Given the description of an element on the screen output the (x, y) to click on. 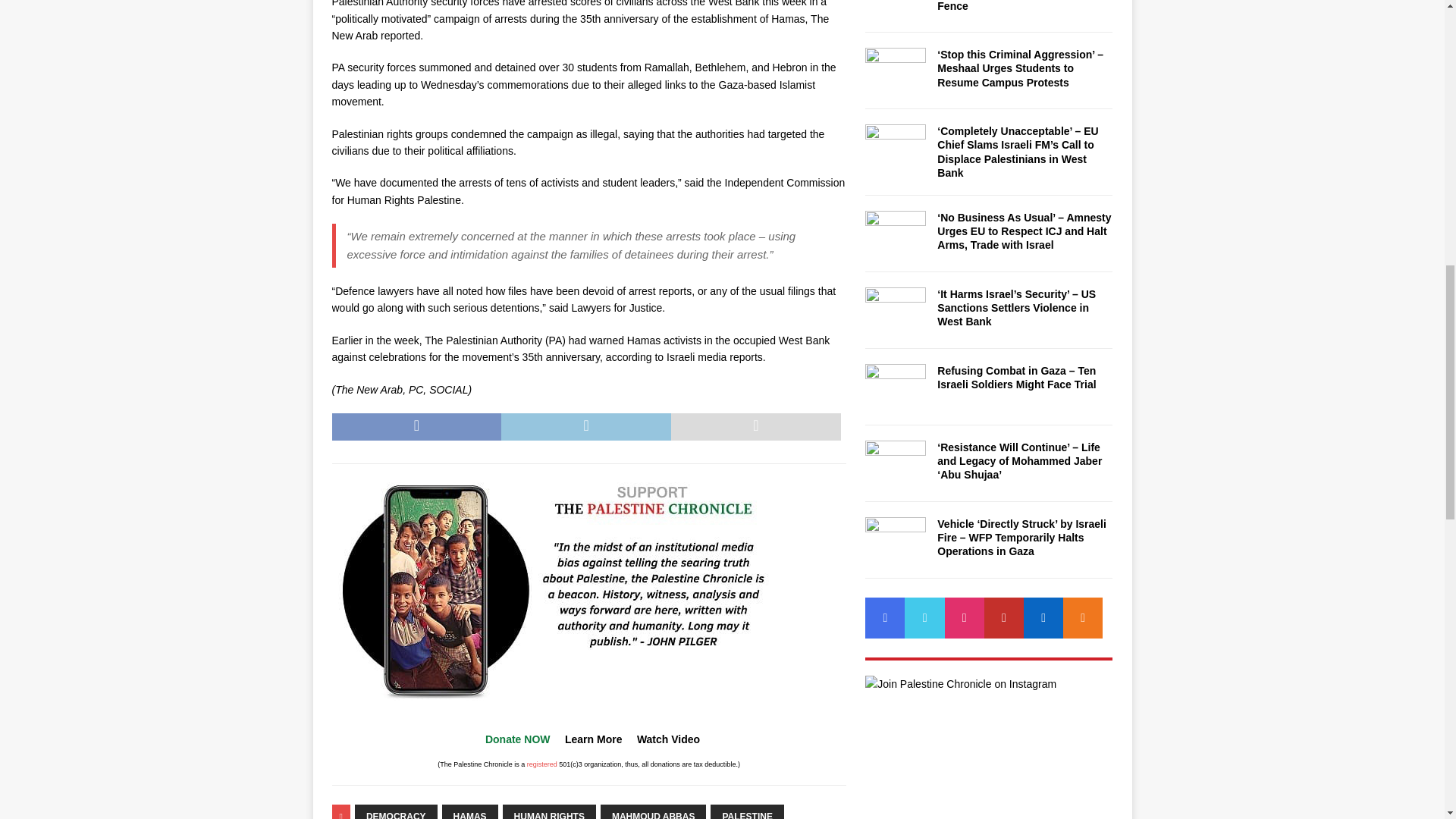
Watch Video (668, 739)
DEMOCRACY (396, 811)
Donate NOW (517, 739)
Learn More (592, 739)
HAMAS (469, 811)
HUMAN RIGHTS (548, 811)
registered (542, 764)
